Given the description of an element on the screen output the (x, y) to click on. 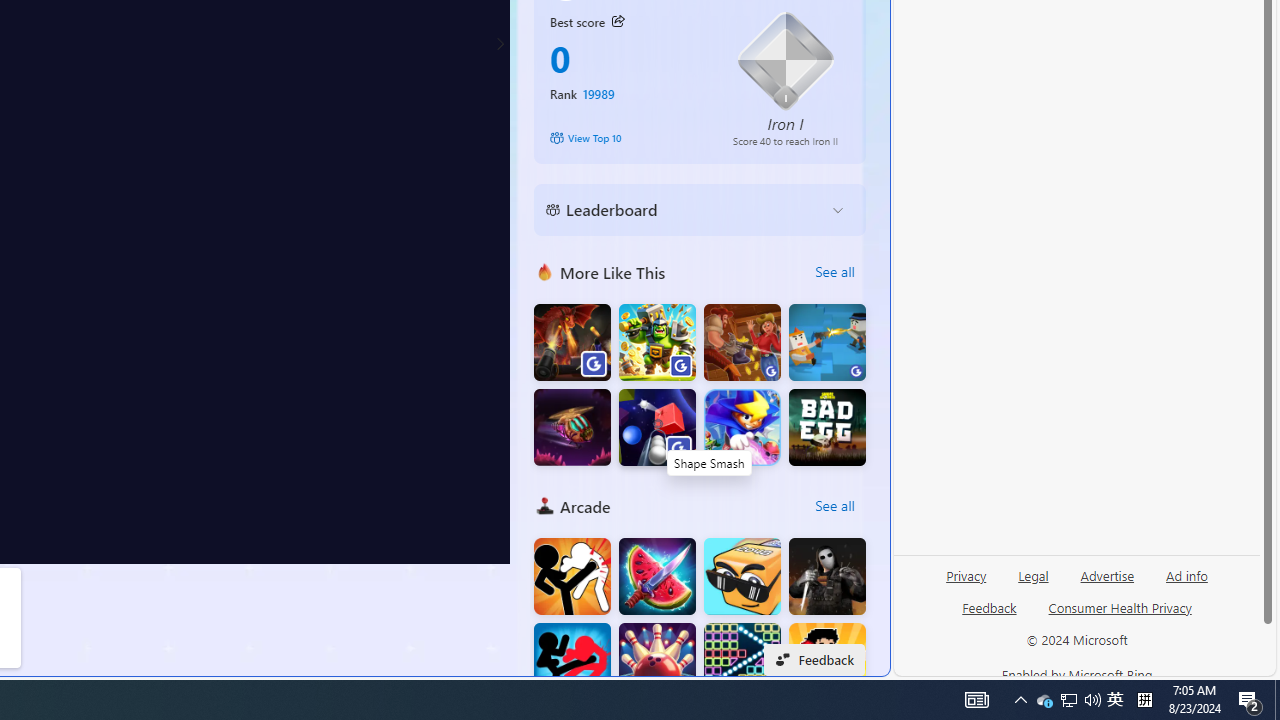
Castle Of Magic (742, 427)
Bricks Breaker Deluxe Crusher (742, 661)
Cubes2048 (742, 576)
Class: button (617, 21)
Arcade (544, 505)
Saloon Robbery (742, 342)
Shape Smash (657, 427)
See all (834, 506)
Boxing fighter : Super punch (827, 661)
Stickman fighter : Epic battle (571, 661)
Heli Dash (571, 427)
